Given the description of an element on the screen output the (x, y) to click on. 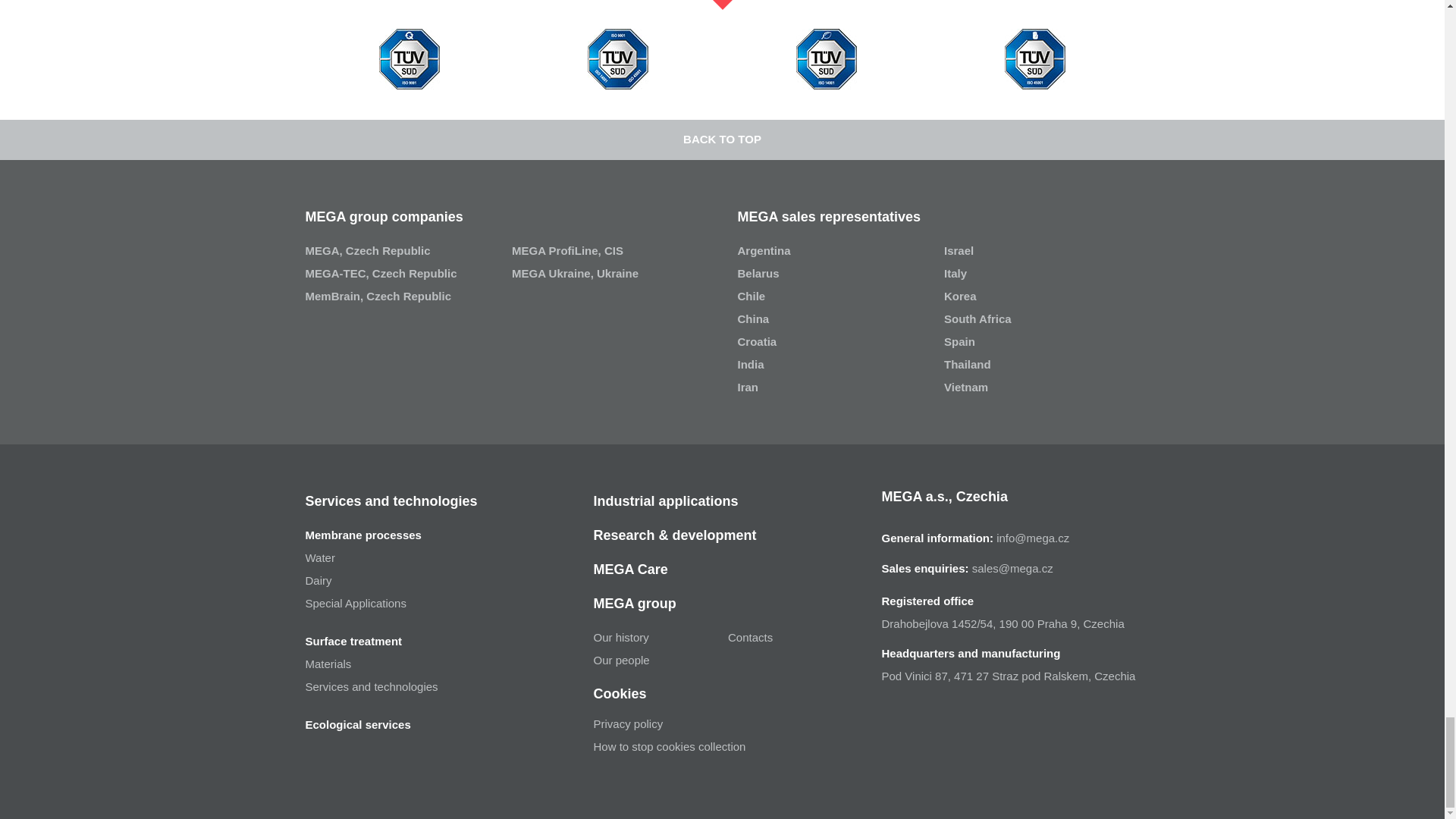
Certificate ISO 45001 (1034, 58)
Certificate ISO 9001 (408, 58)
Certificate ISO 14001 (826, 58)
Certificate ISO 9001, ISO 14001, ISO 45001 (617, 58)
